Given the description of an element on the screen output the (x, y) to click on. 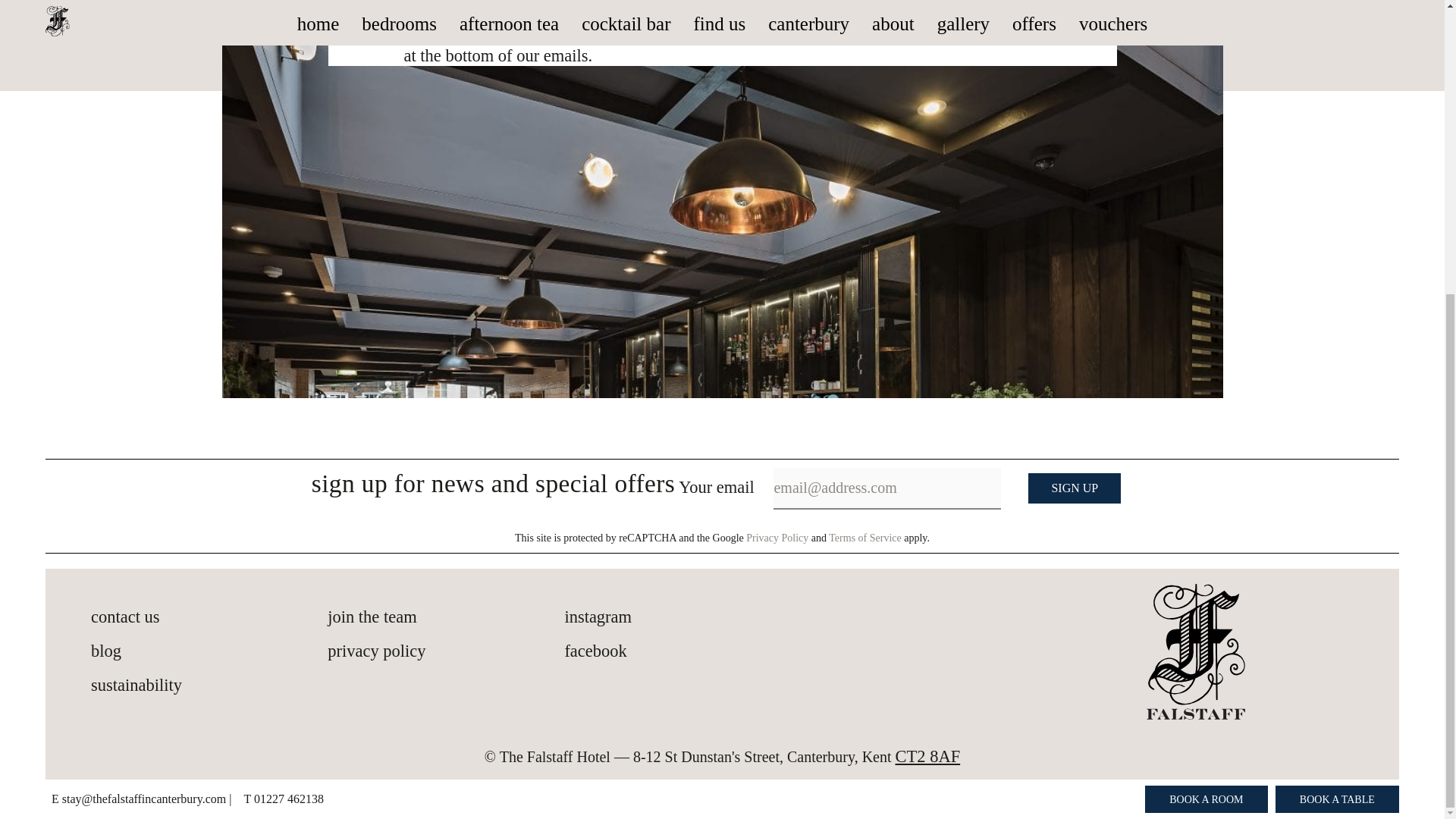
BOOK A ROOM (1206, 347)
CT2 8AF (927, 756)
T 01227 462138 (283, 347)
Sign Up (1074, 488)
join the team (445, 617)
blog (208, 650)
BOOK A TABLE (1337, 347)
instagram (682, 617)
sustainability (208, 685)
privacy policy (445, 650)
